Given the description of an element on the screen output the (x, y) to click on. 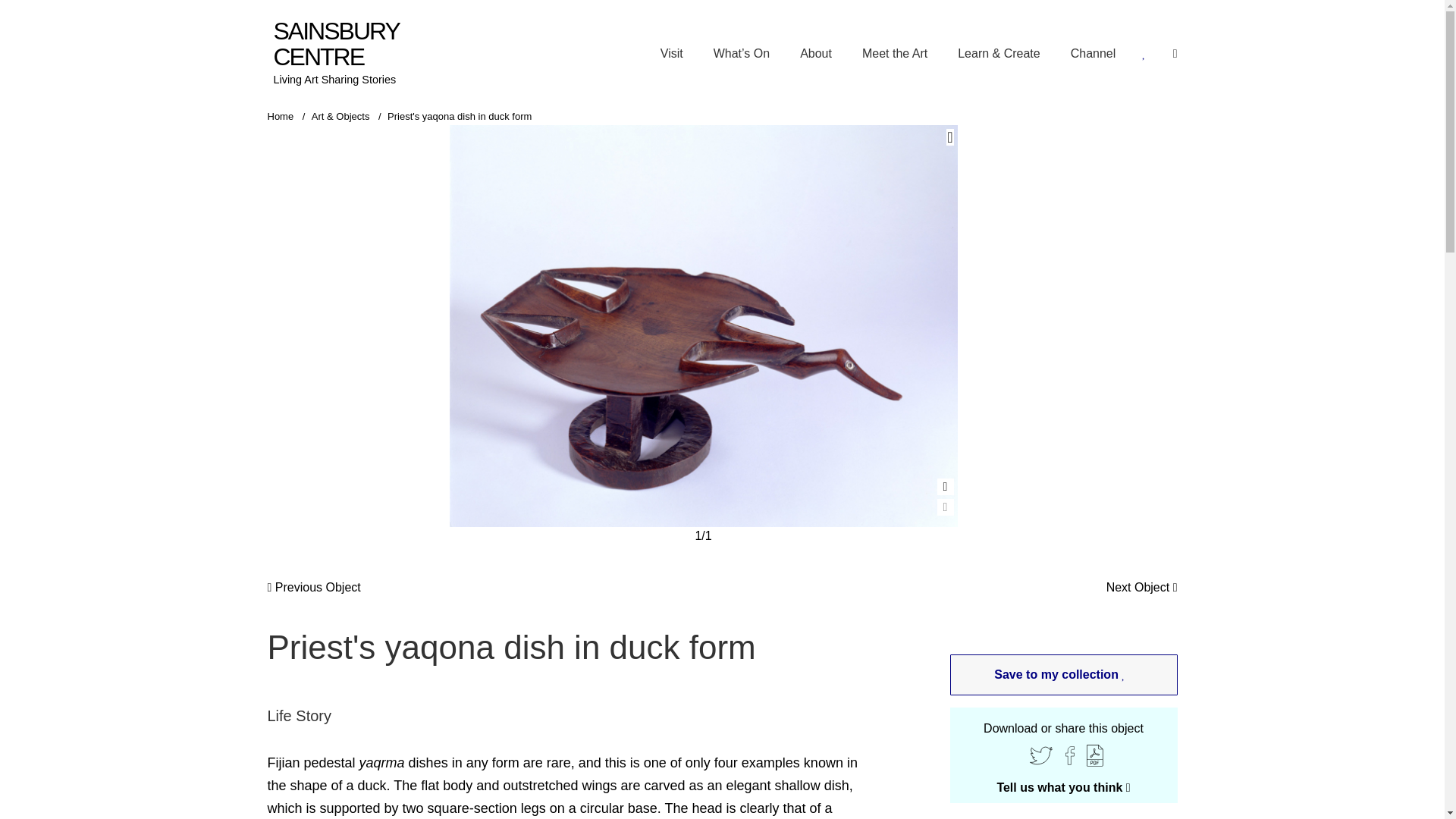
Meet the Art (894, 53)
Channel (1093, 53)
About (815, 53)
